Given the description of an element on the screen output the (x, y) to click on. 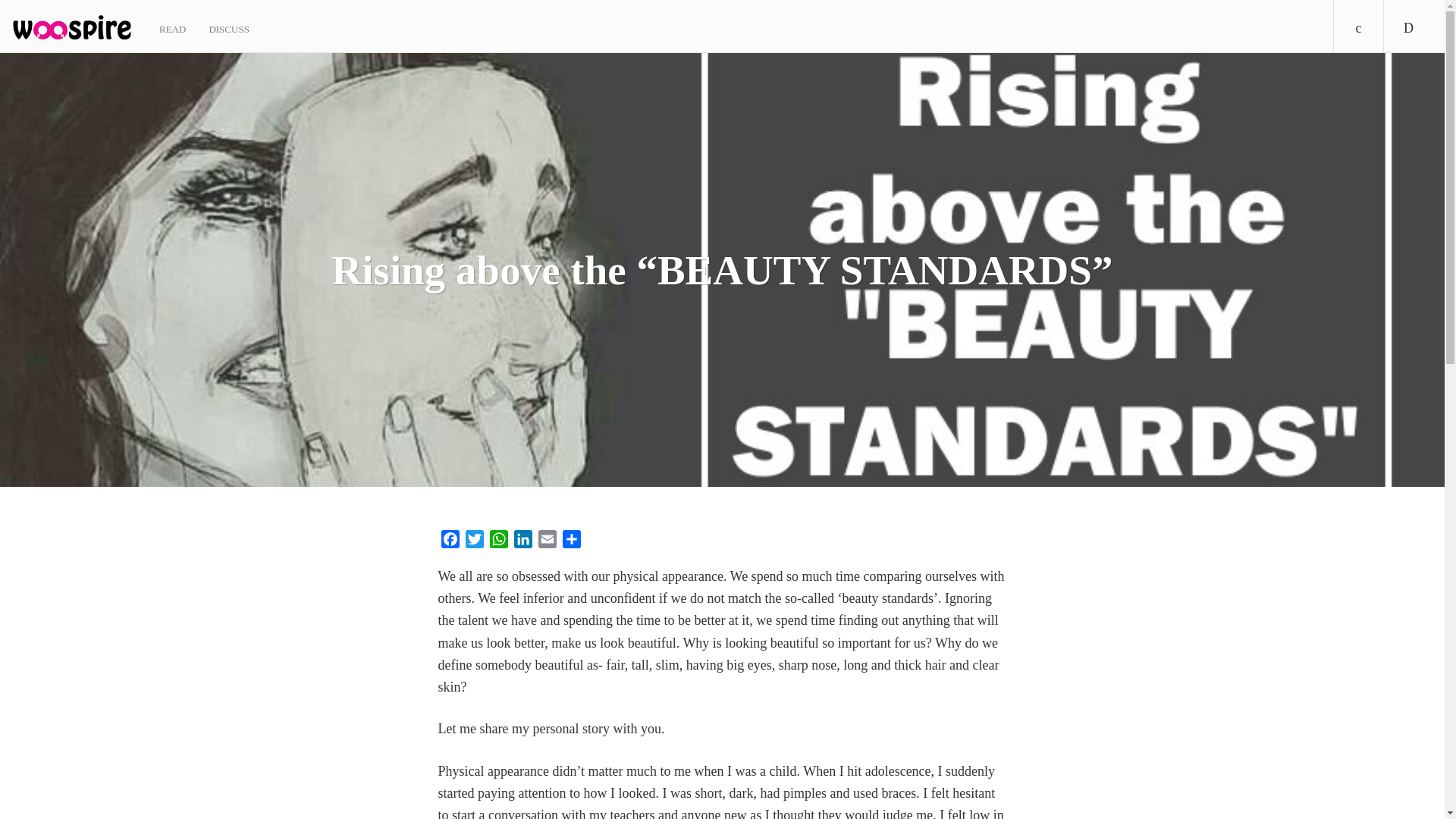
DISCUSS (228, 26)
Facebook (450, 541)
Twitter (474, 541)
LinkedIn (523, 541)
WhatsApp (498, 541)
LinkedIn (523, 541)
Email (547, 541)
Facebook (450, 541)
Email (547, 541)
Twitter (474, 541)
WhatsApp (498, 541)
READ (172, 26)
